Given the description of an element on the screen output the (x, y) to click on. 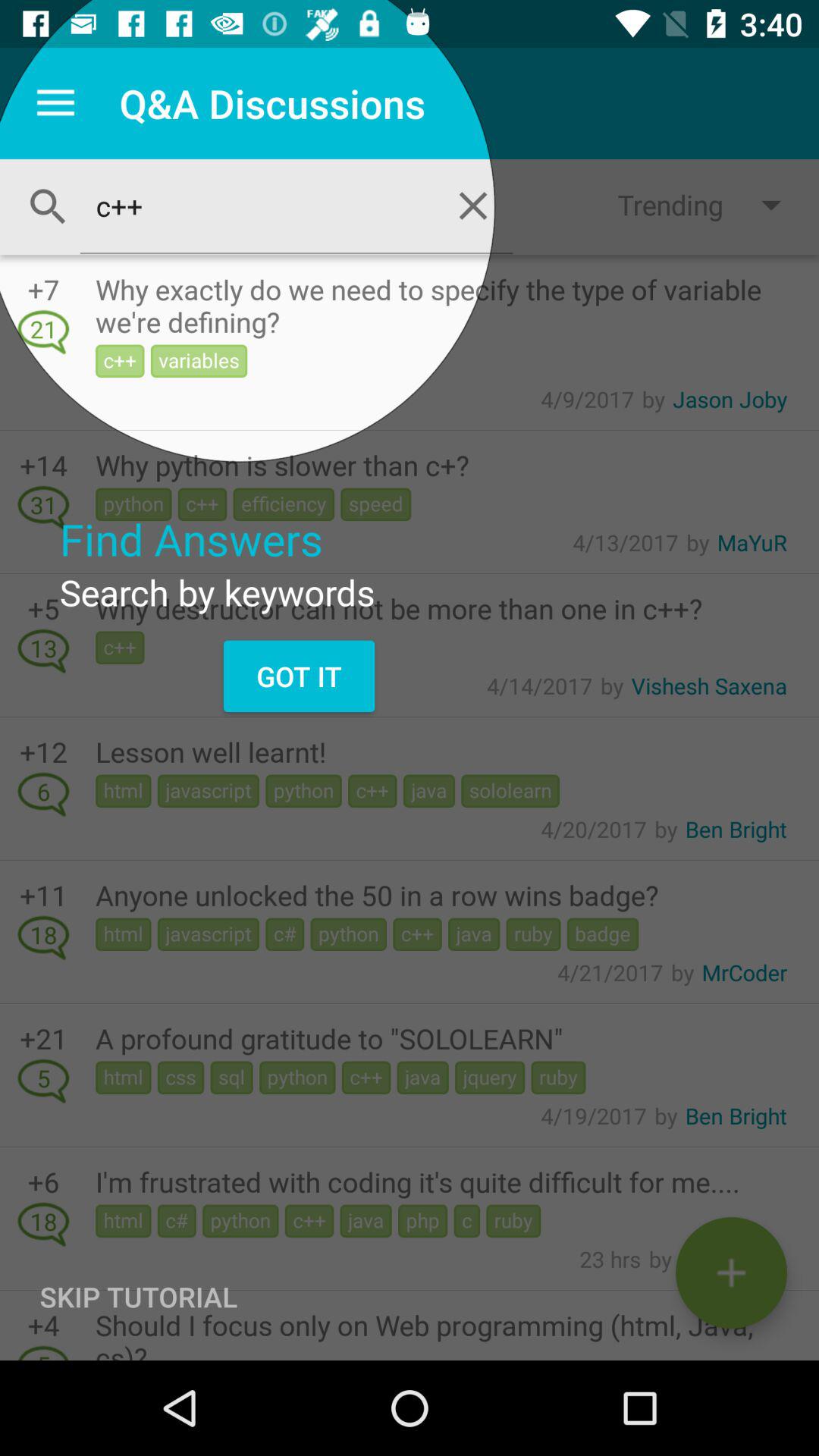
compose an email (731, 1272)
